Given the description of an element on the screen output the (x, y) to click on. 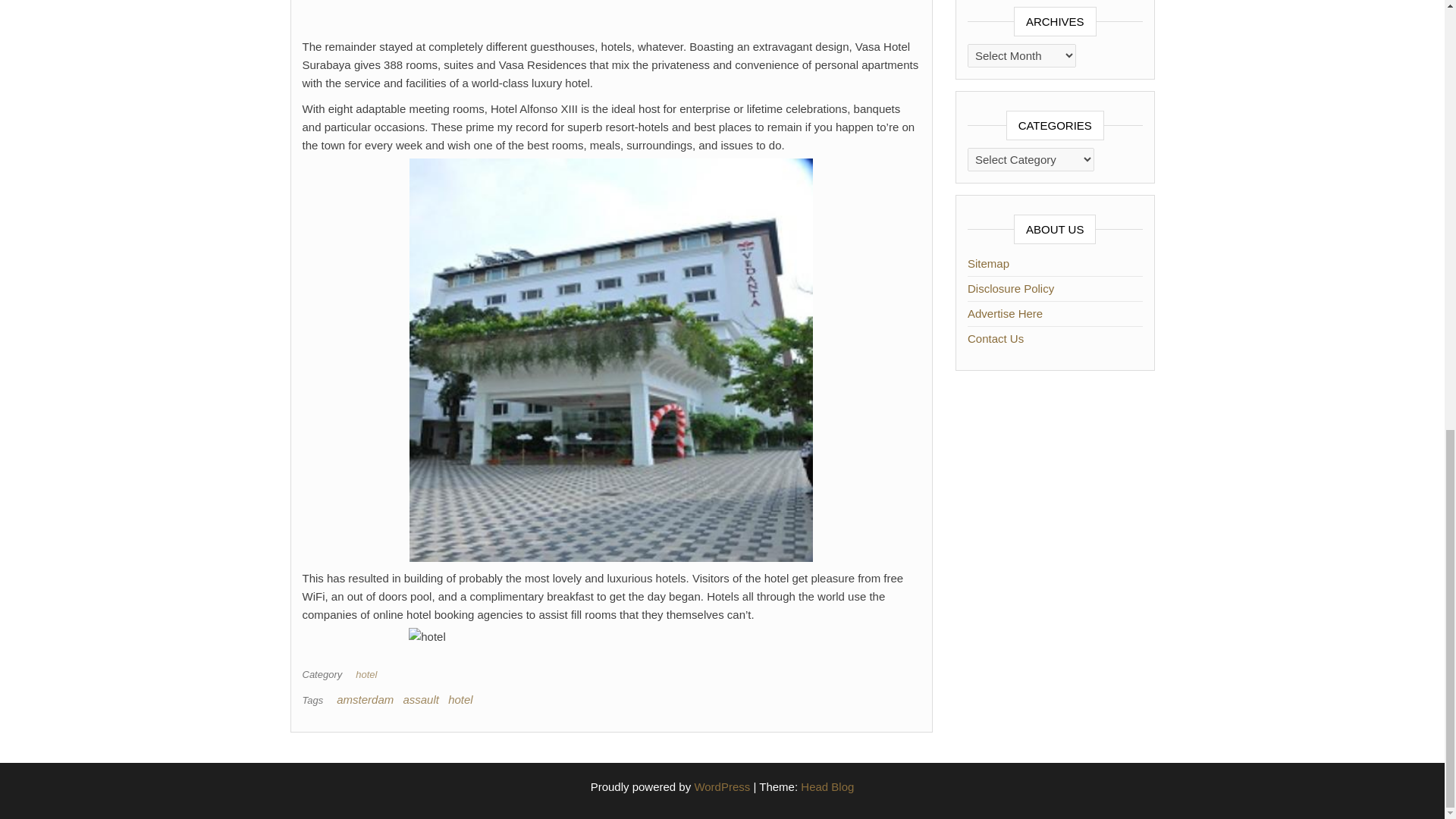
hotel (368, 674)
hotel (460, 698)
amsterdam (364, 698)
assault (421, 698)
